Given the description of an element on the screen output the (x, y) to click on. 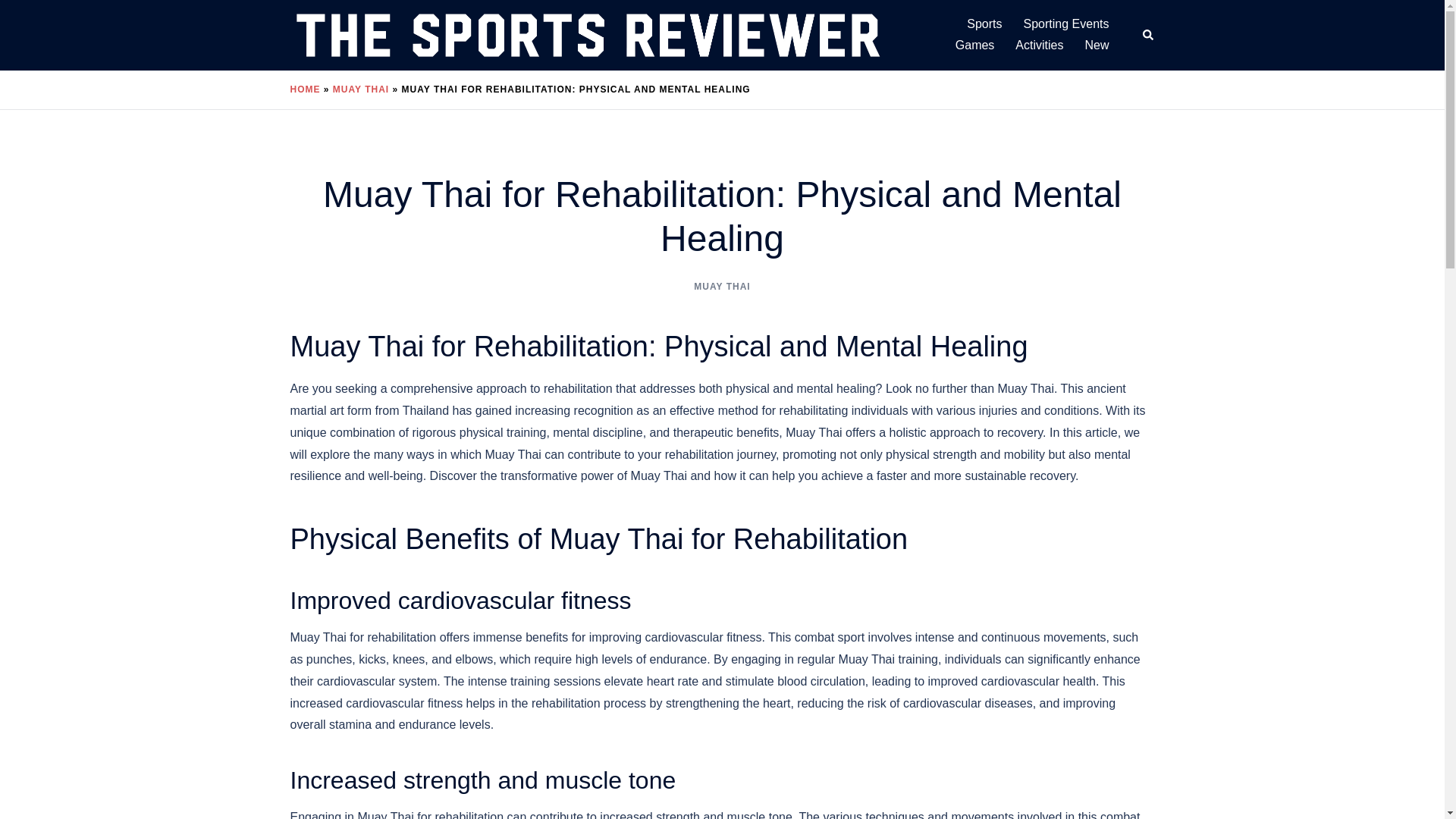
MUAY THAI (360, 89)
Search (1147, 34)
Sports (983, 24)
Activities (1038, 45)
HOME (304, 89)
Games (974, 45)
TheSportsReviewer.com (586, 33)
New (1096, 45)
MUAY THAI (721, 286)
Sporting Events (1066, 24)
